Given the description of an element on the screen output the (x, y) to click on. 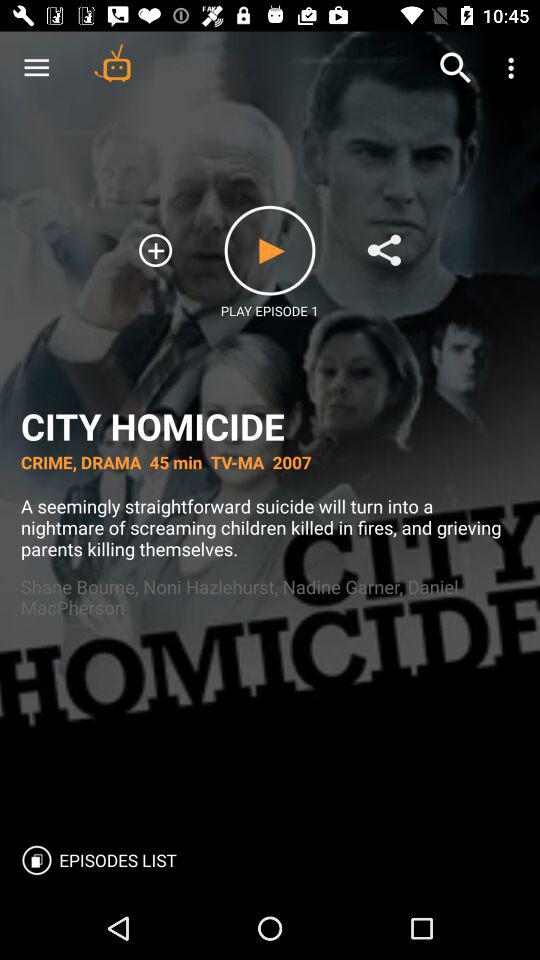
select icon above the play episode 1 item (269, 250)
